Given the description of an element on the screen output the (x, y) to click on. 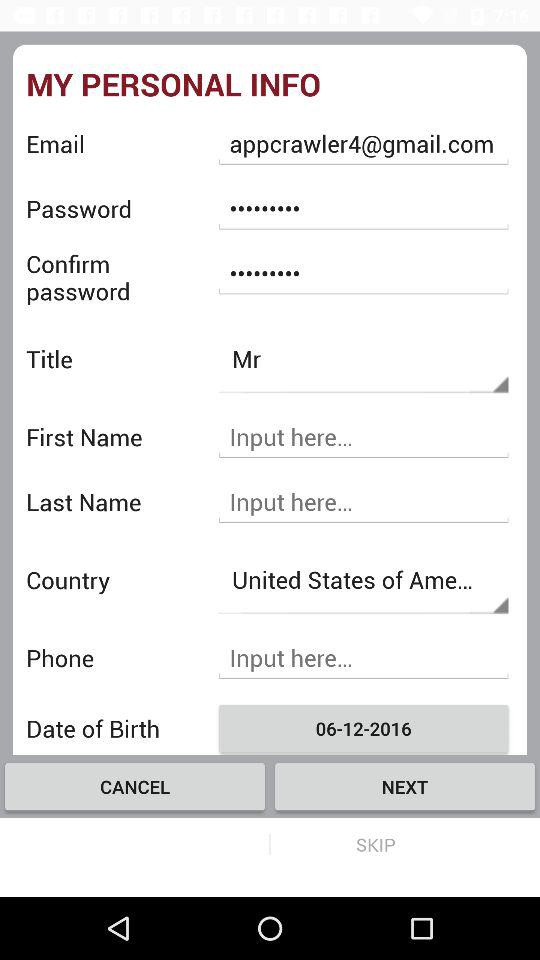
enter the phone number (363, 658)
